Given the description of an element on the screen output the (x, y) to click on. 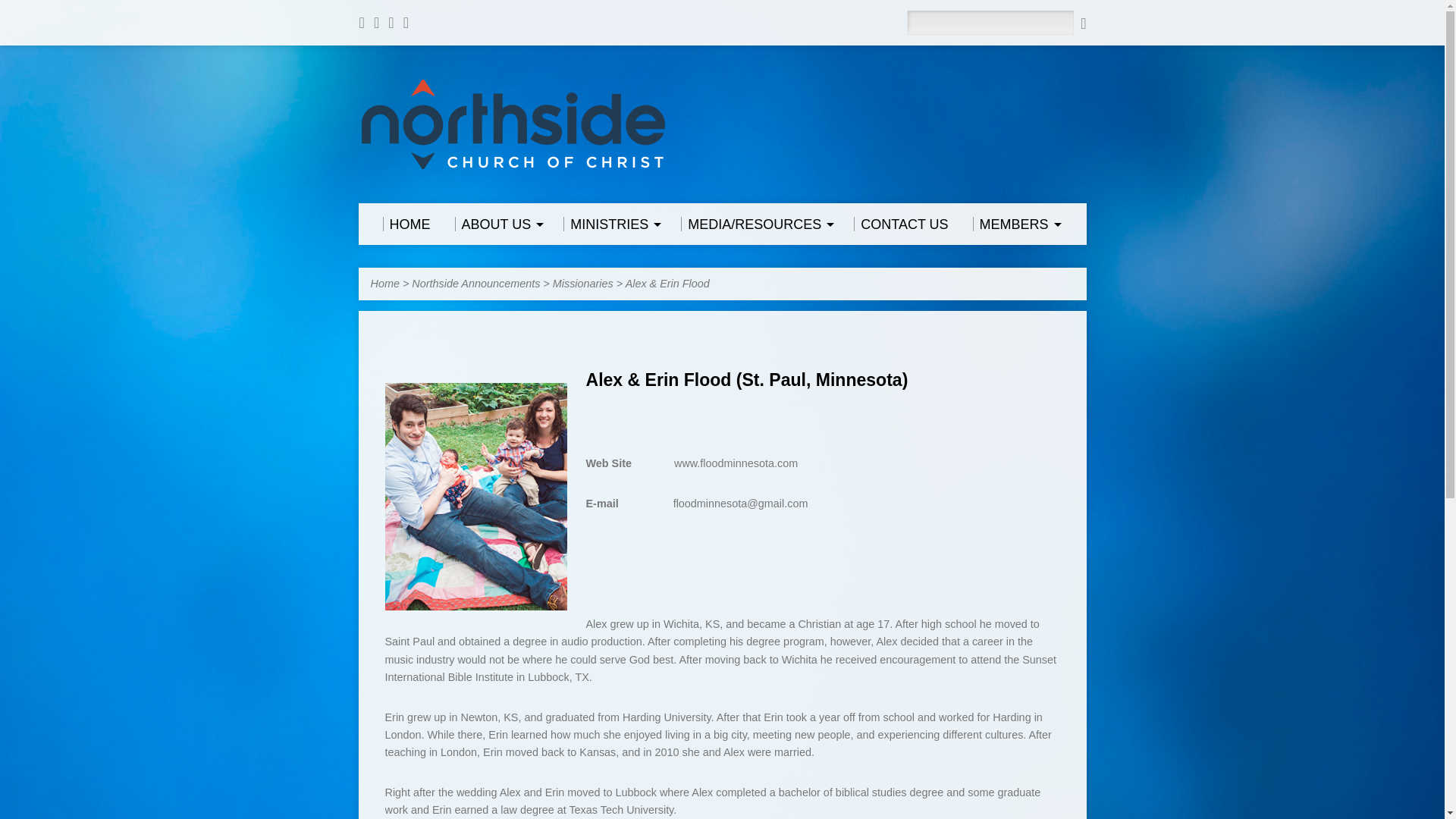
ABOUT US (497, 223)
HOME (405, 223)
MINISTRIES (609, 223)
